Given the description of an element on the screen output the (x, y) to click on. 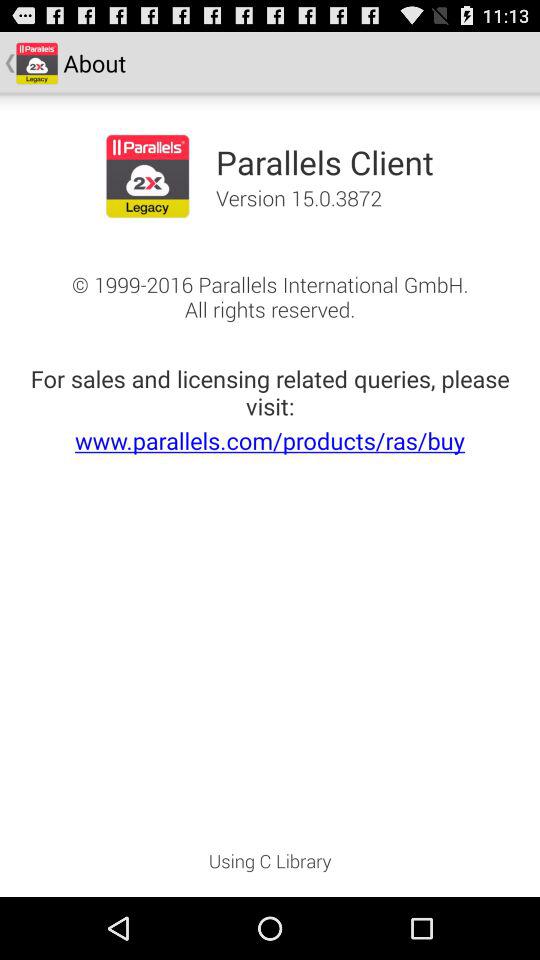
launch item below www parallels com icon (269, 867)
